Given the description of an element on the screen output the (x, y) to click on. 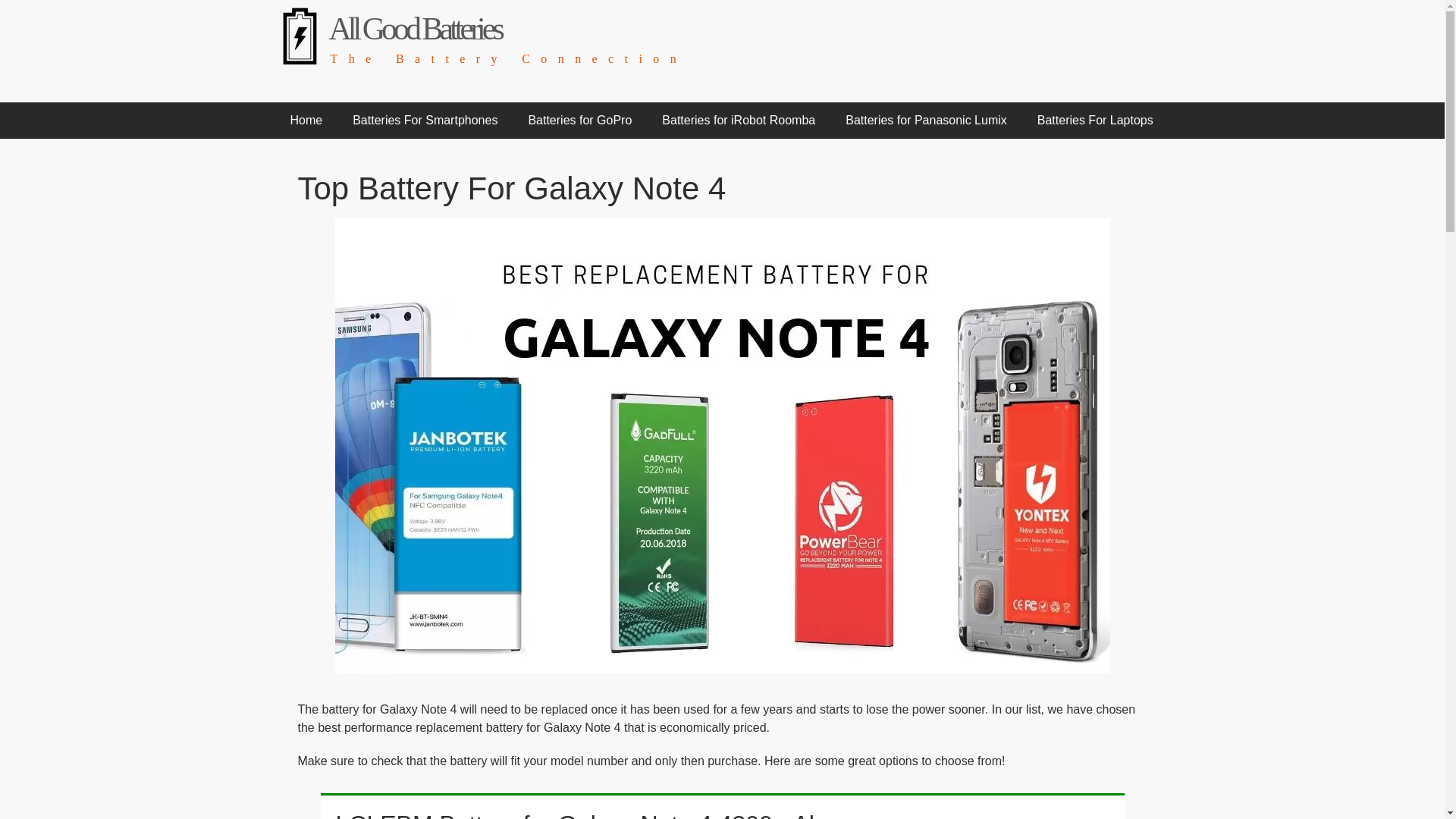
Batteries For Smartphones (424, 120)
LCLEBM Battery for Galaxy Note 4 4300mAh (578, 814)
All Good Batteries (414, 28)
Home (306, 120)
Batteries for iRobot Roomba (737, 120)
Batteries For Laptops (1095, 120)
Home (414, 28)
Batteries for Panasonic Lumix (925, 120)
Batteries for GoPro (579, 120)
